Given the description of an element on the screen output the (x, y) to click on. 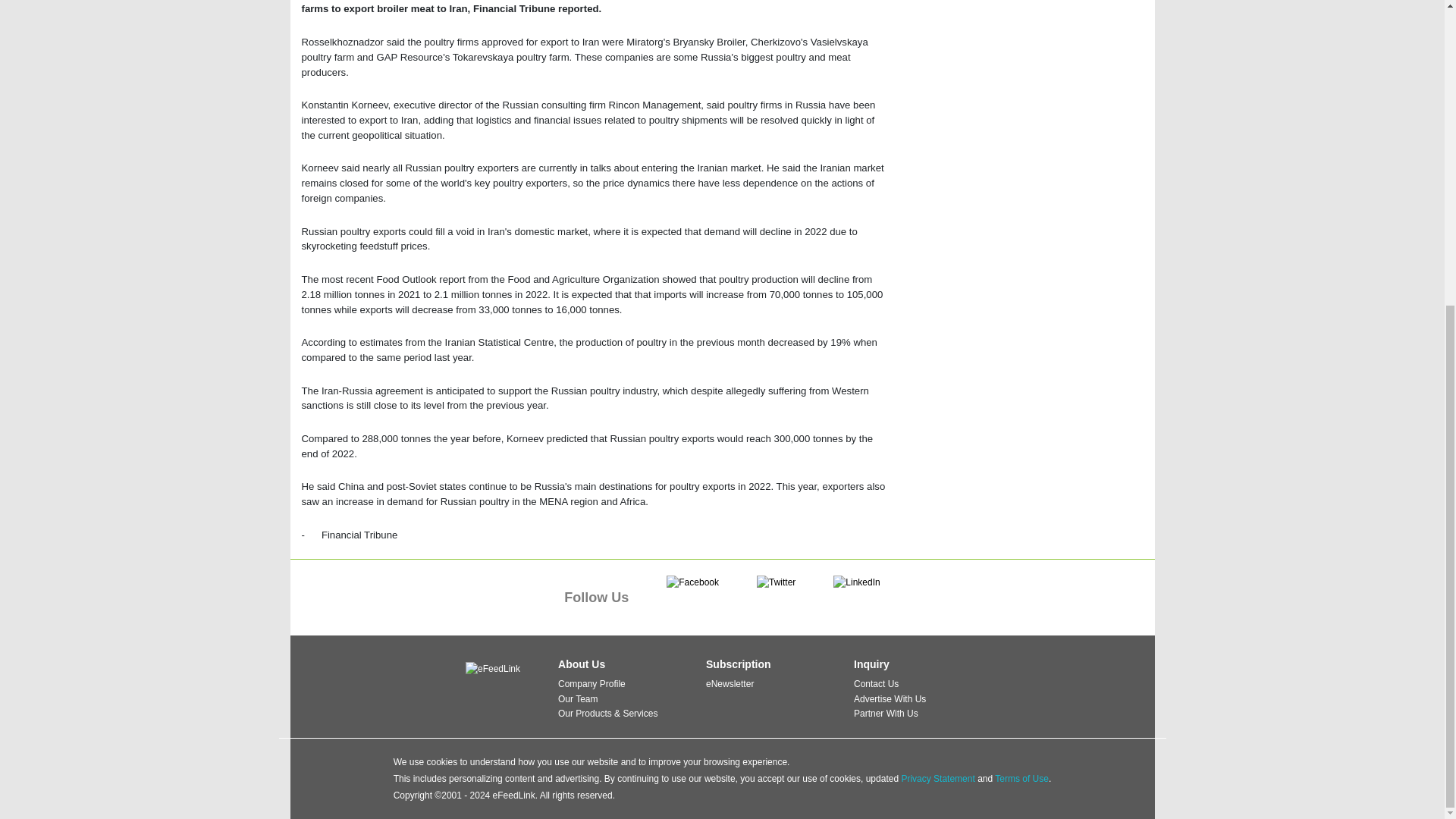
Company Profile (591, 683)
eNewsletter (730, 683)
Contact Us (875, 683)
Advertise With Us (889, 698)
Terms of Use (1021, 778)
Privacy Statement (937, 778)
Our Team (576, 698)
Partner With Us (885, 713)
